Given the description of an element on the screen output the (x, y) to click on. 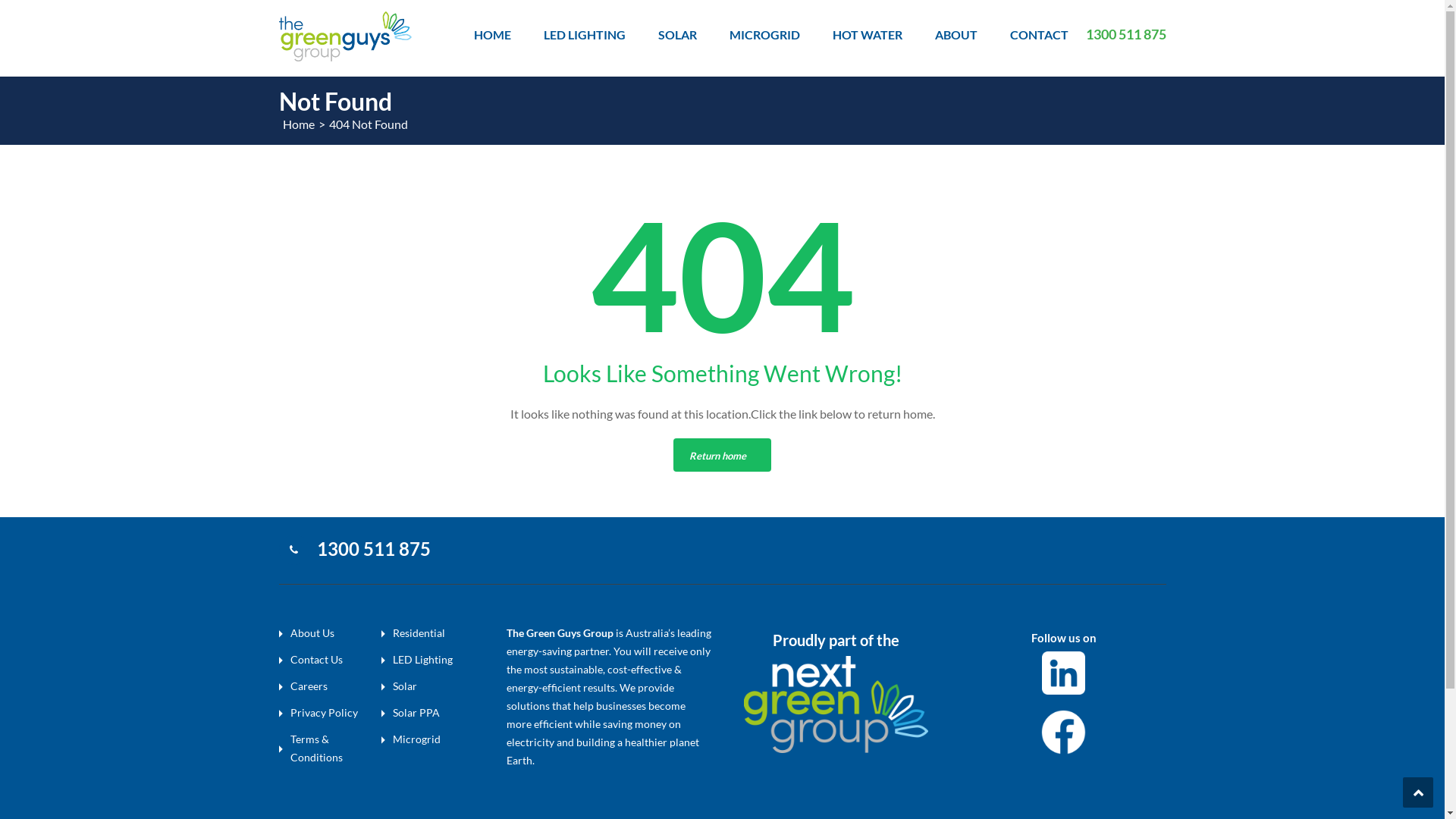
Microgrid Element type: text (416, 738)
Careers Element type: text (307, 685)
SOLAR Element type: text (677, 34)
Contact Us Element type: text (315, 658)
LED Lighting Element type: text (422, 658)
About Us Element type: text (311, 632)
Privacy Policy Element type: text (323, 712)
LED LIGHTING Element type: text (583, 34)
Residential Element type: text (418, 632)
CONTACT Element type: text (1038, 34)
Solar PPA Element type: text (415, 712)
Home Element type: text (297, 123)
Return home Element type: text (722, 454)
1300 511 875 Element type: text (1125, 34)
HOT WATER Element type: text (867, 34)
The Green Guys Group Element type: hover (345, 34)
HOME Element type: text (491, 34)
Solar Element type: text (404, 685)
1300 511 875 Element type: text (373, 551)
Search Element type: text (1144, 92)
MICROGRID Element type: text (764, 34)
ABOUT Element type: text (955, 34)
Terms & Conditions Element type: text (315, 747)
